Given the description of an element on the screen output the (x, y) to click on. 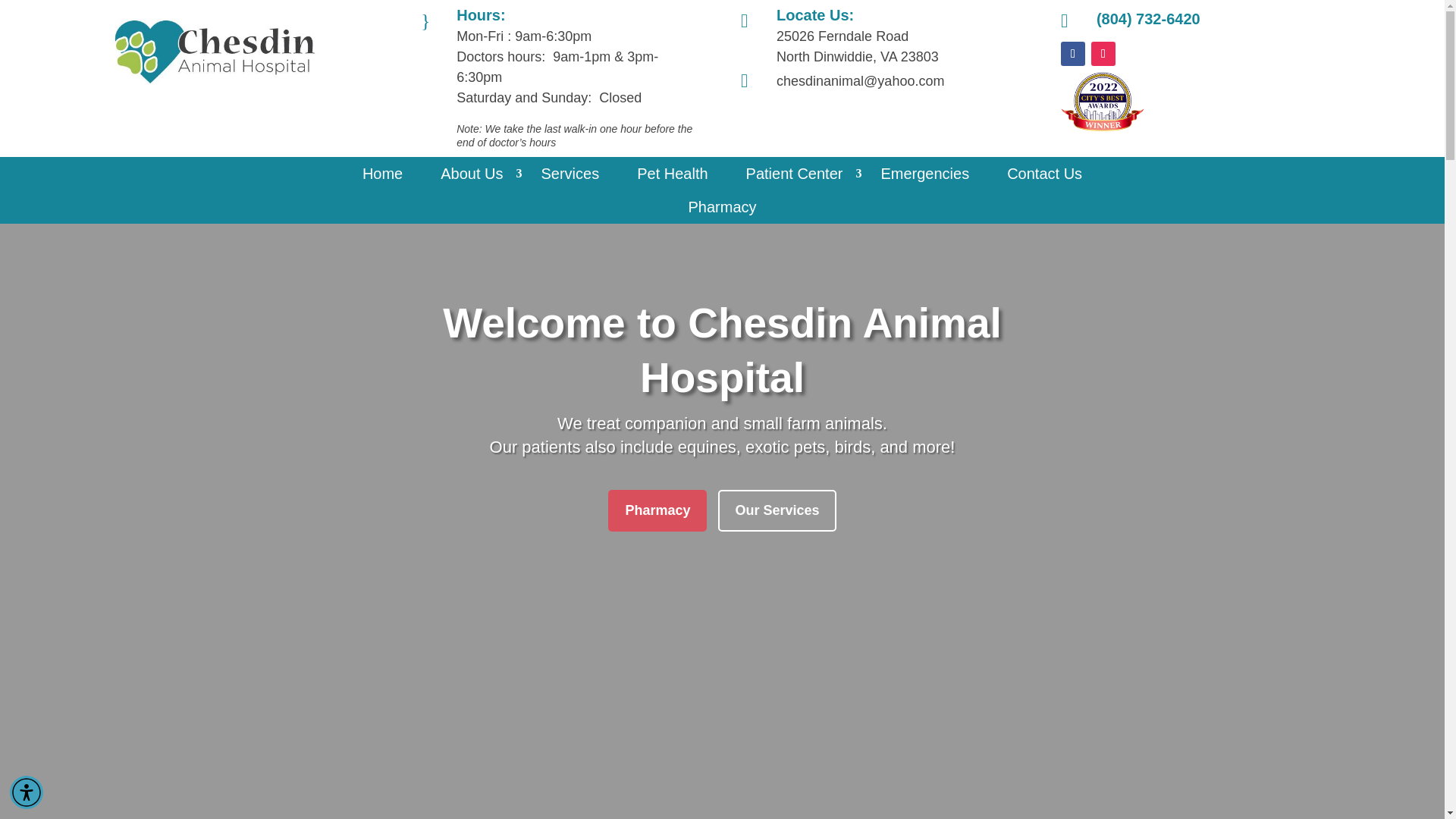
Patient Center (793, 173)
Pet Health (671, 173)
Follow on Facebook (1072, 53)
Services (569, 173)
About Us (471, 173)
Follow on Instagram (1102, 53)
Pharmacy (721, 206)
Accessibility Menu (26, 792)
Home (382, 173)
Our Services (776, 510)
Emergencies (924, 173)
Pharmacy (657, 510)
Contact Us (1044, 173)
